Given the description of an element on the screen output the (x, y) to click on. 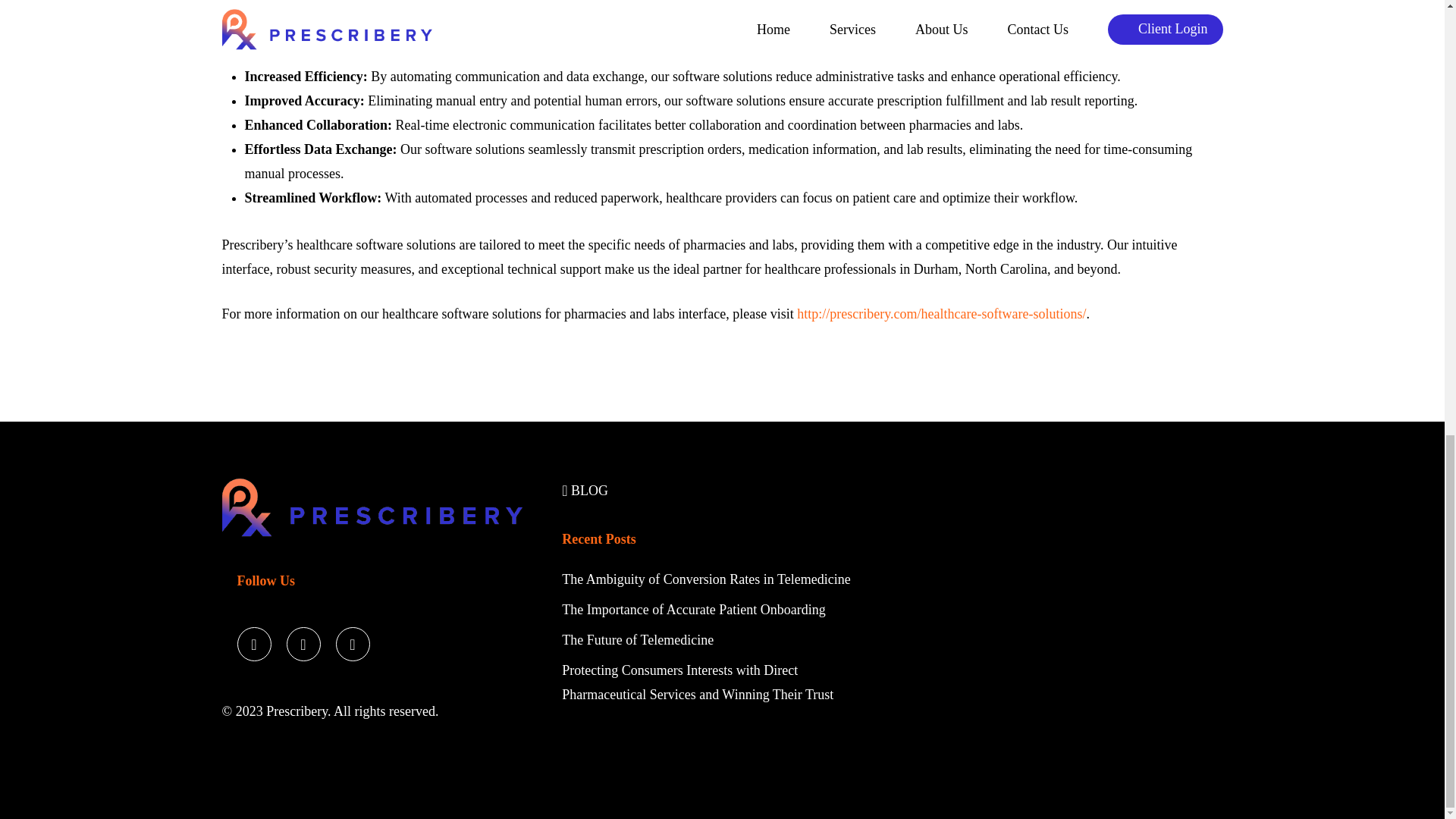
The Future of Telemedicine (637, 639)
The Importance of Accurate Patient Onboarding (693, 609)
LinkedIn (351, 640)
facebook (303, 640)
The Ambiguity of Conversion Rates in Telemedicine  (707, 579)
BLOG (585, 490)
twitter (252, 640)
